Given the description of an element on the screen output the (x, y) to click on. 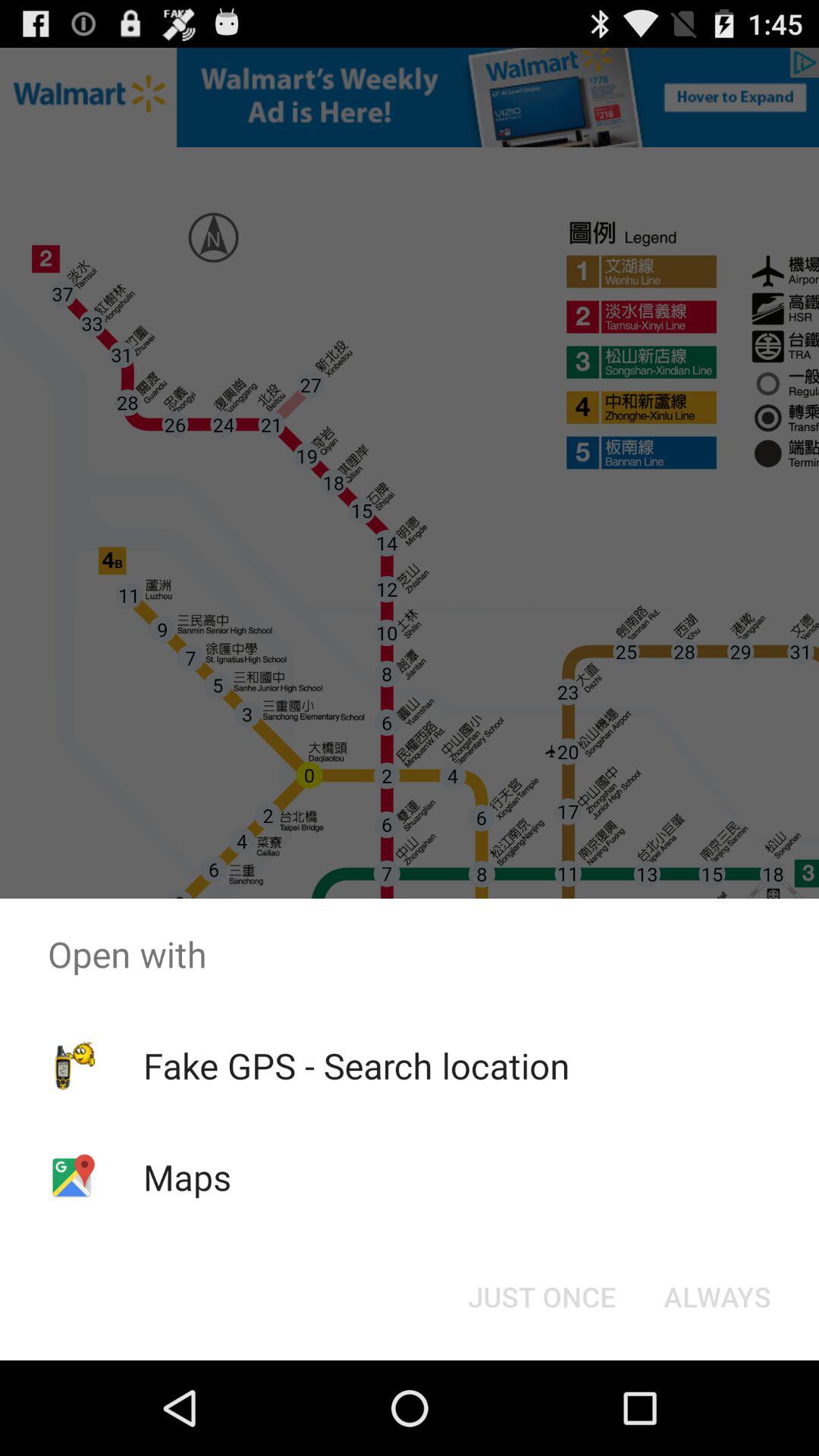
press fake gps search (356, 1065)
